Given the description of an element on the screen output the (x, y) to click on. 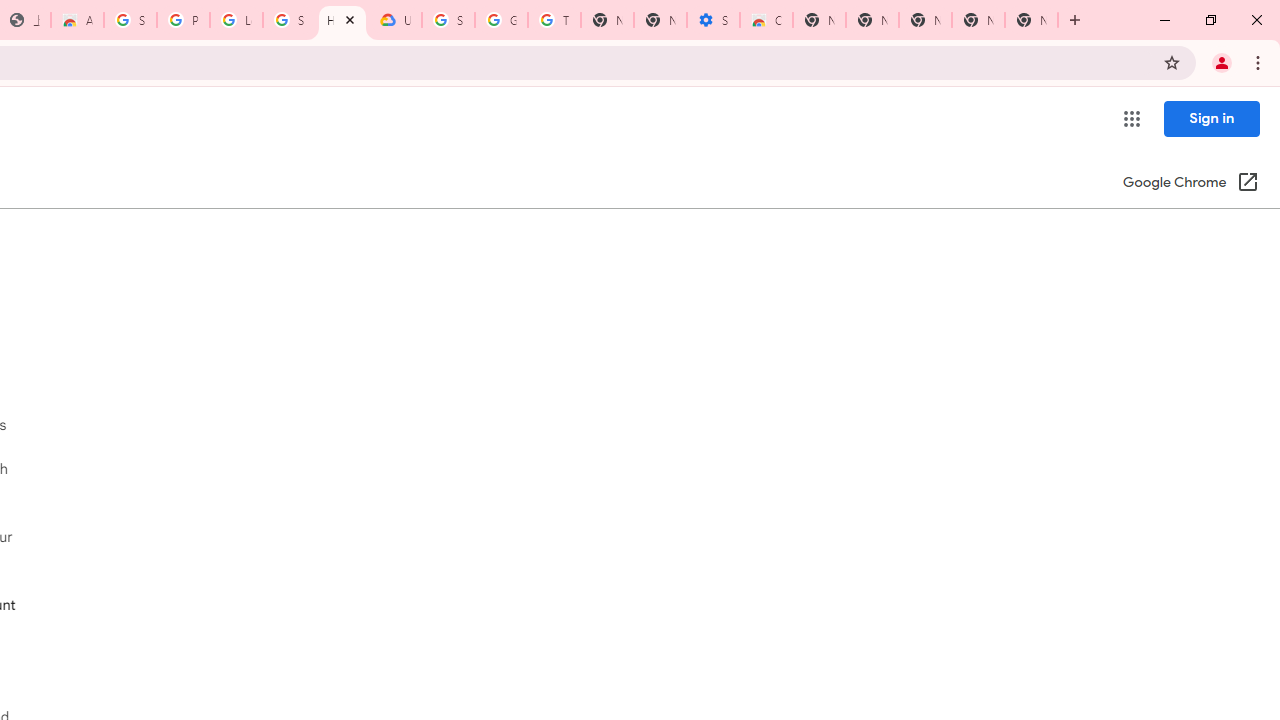
New Tab (1031, 20)
Google Account Help (501, 20)
New Tab (925, 20)
Sign in - Google Accounts (289, 20)
Chrome Web Store - Accessibility extensions (766, 20)
New Tab (819, 20)
Google Chrome (Open in a new window) (1190, 183)
Awesome Screen Recorder & Screenshot - Chrome Web Store (77, 20)
Turn cookies on or off - Computer - Google Account Help (554, 20)
